Given the description of an element on the screen output the (x, y) to click on. 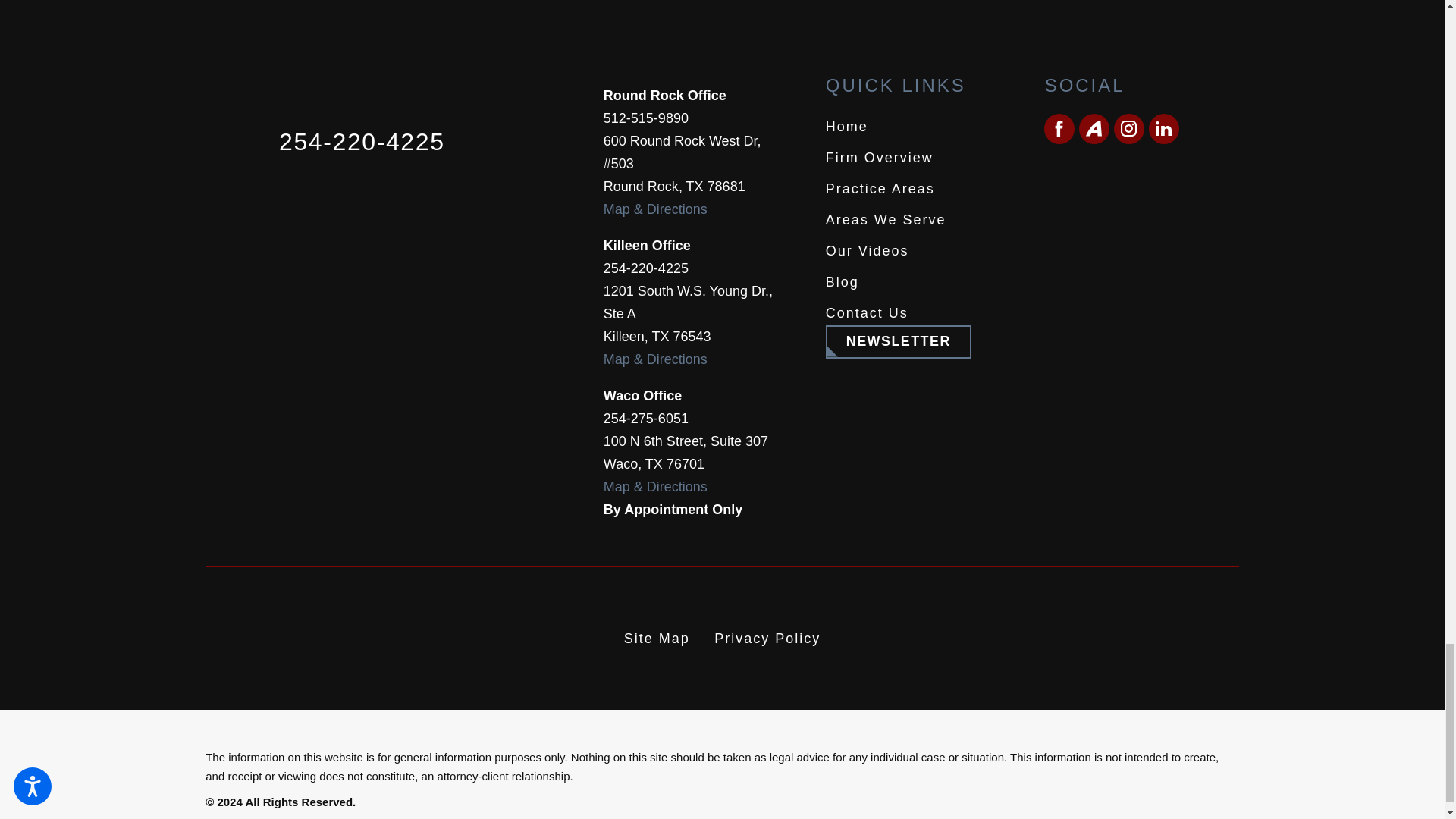
Avvo (1093, 128)
Instagram (1128, 128)
Facebook (1058, 128)
LinkedIn (1163, 128)
